Given the description of an element on the screen output the (x, y) to click on. 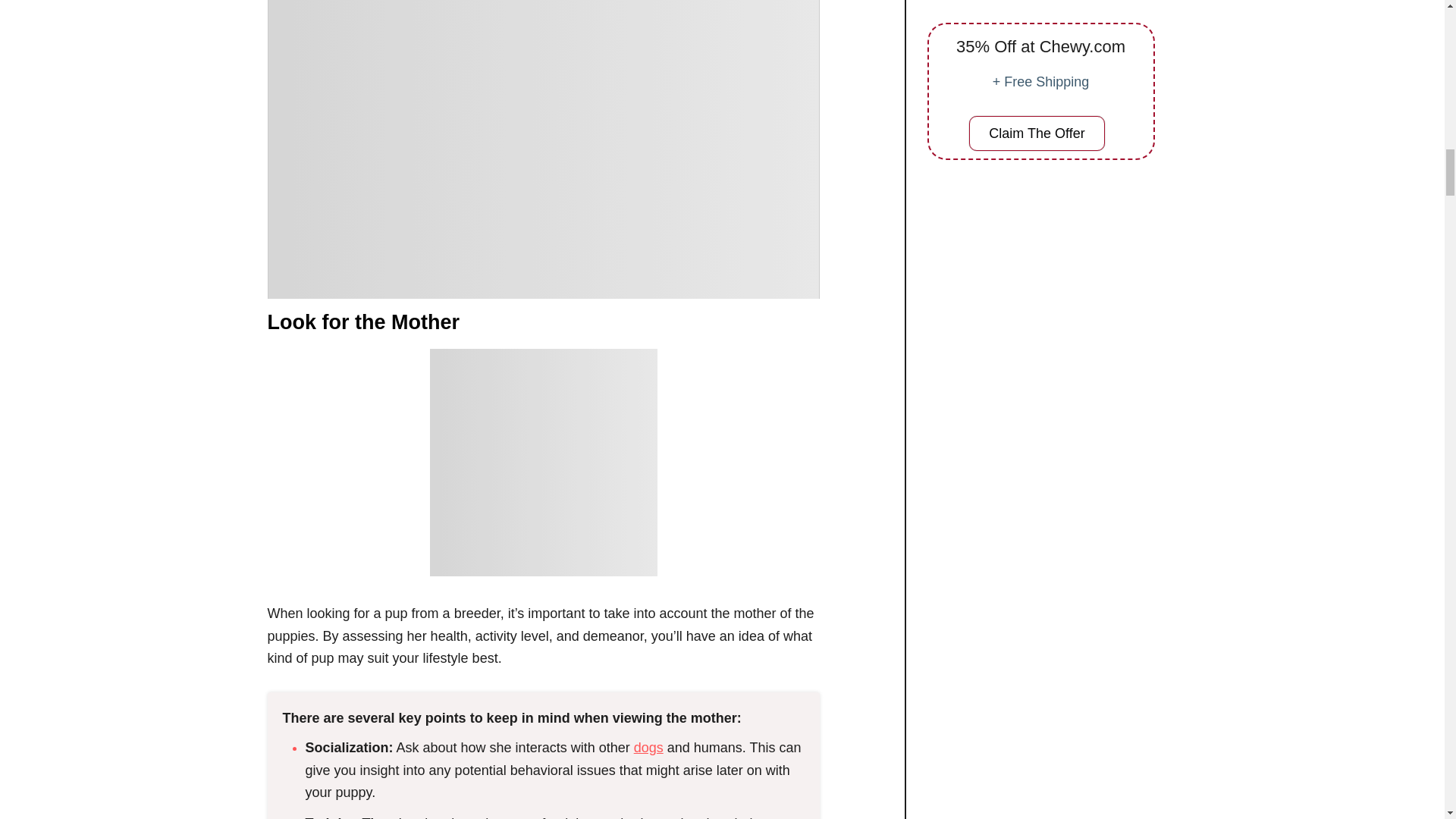
dogs (648, 747)
